Given the description of an element on the screen output the (x, y) to click on. 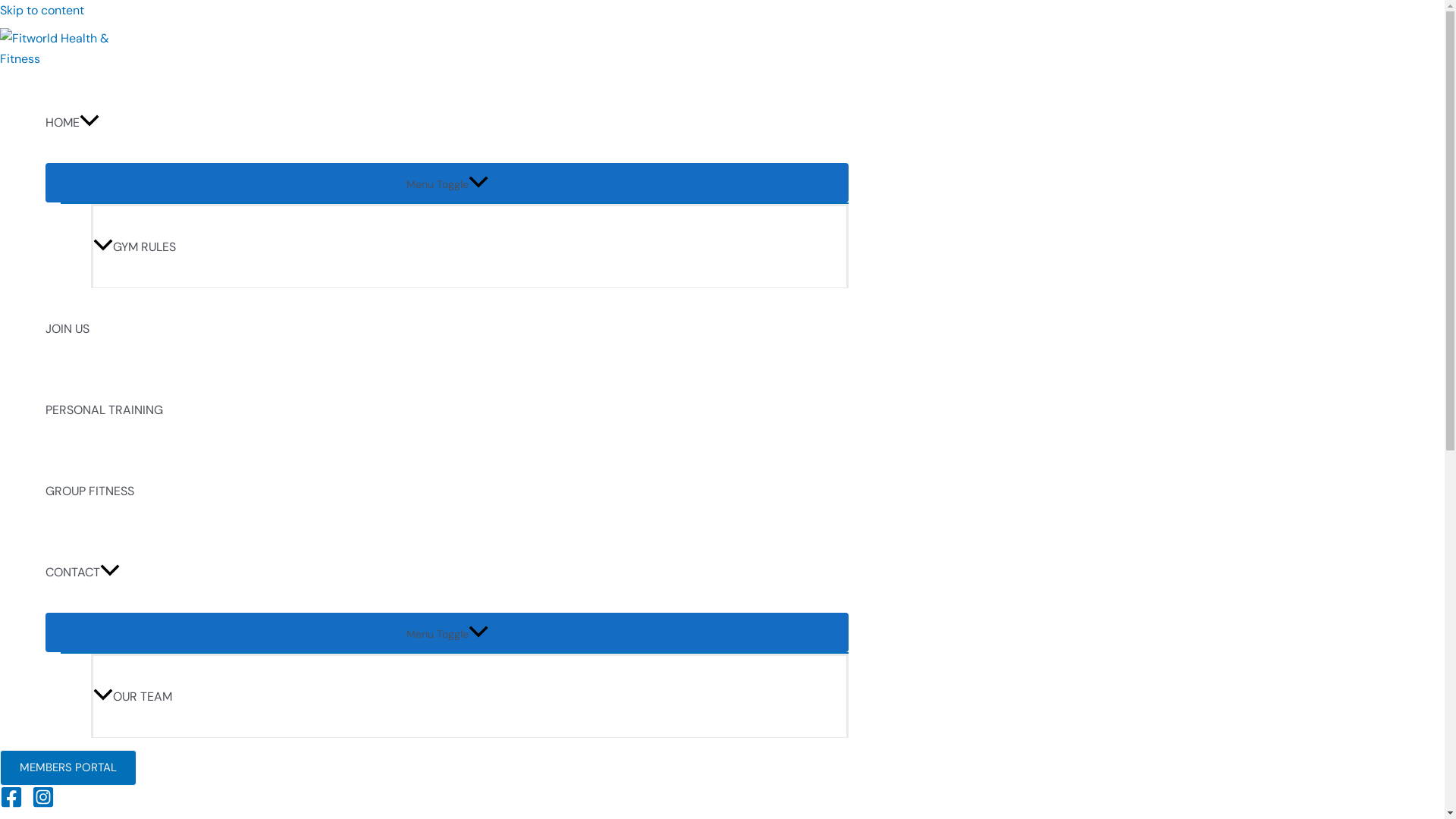
GYM RULES Element type: text (469, 245)
Menu Toggle Element type: text (446, 632)
HOME Element type: text (446, 122)
Skip to content Element type: text (42, 10)
MEMBERS PORTAL Element type: text (68, 767)
PERSONAL TRAINING Element type: text (446, 409)
OUR TEAM Element type: text (469, 695)
CONTACT Element type: text (446, 571)
JOIN US Element type: text (446, 328)
Menu Toggle Element type: text (446, 182)
GROUP FITNESS Element type: text (446, 490)
